Given the description of an element on the screen output the (x, y) to click on. 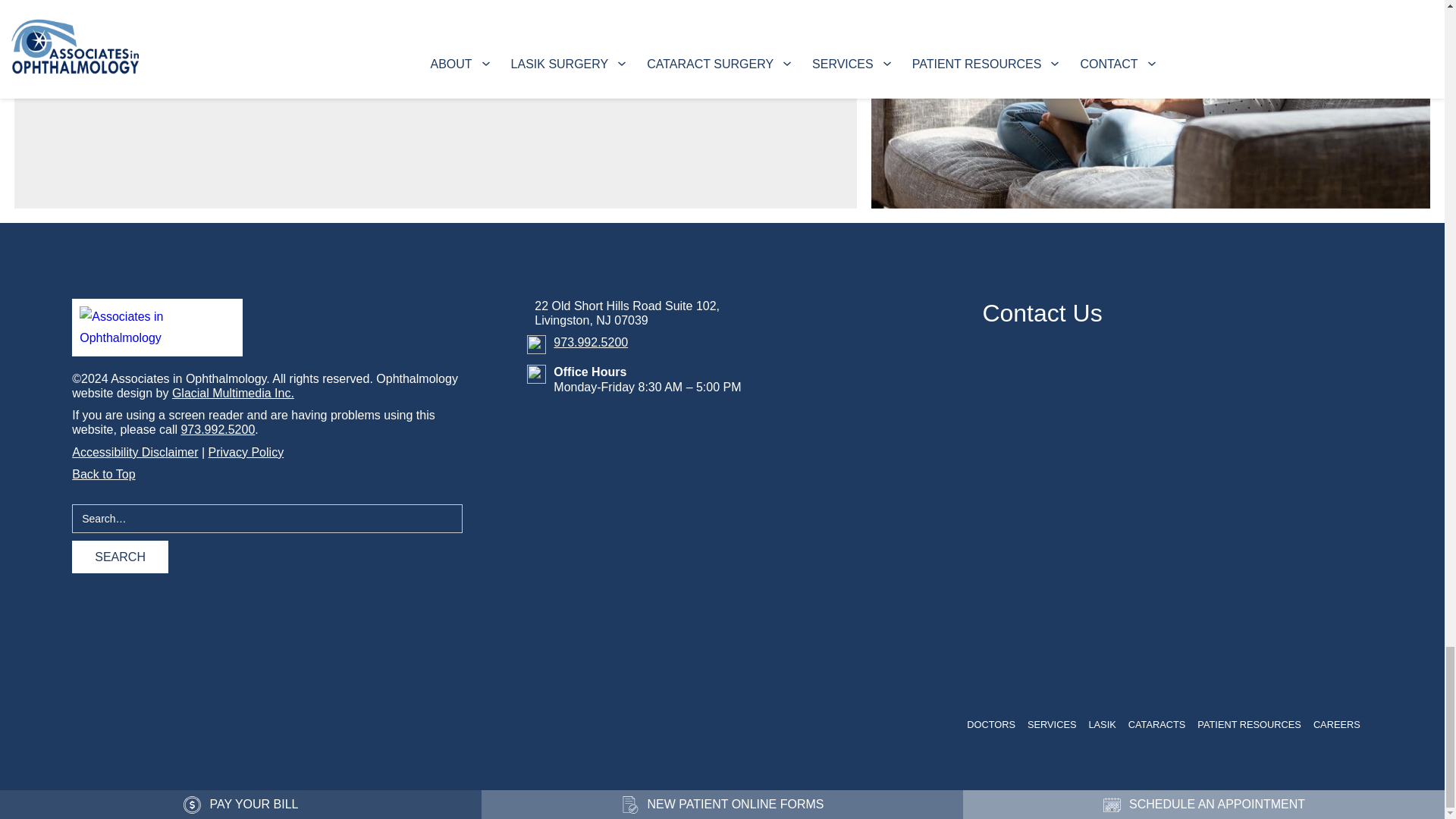
Call PHONE NUMBER for assistance (217, 429)
Glacial Multimedia, Inc. (232, 392)
Search (119, 556)
